Given the description of an element on the screen output the (x, y) to click on. 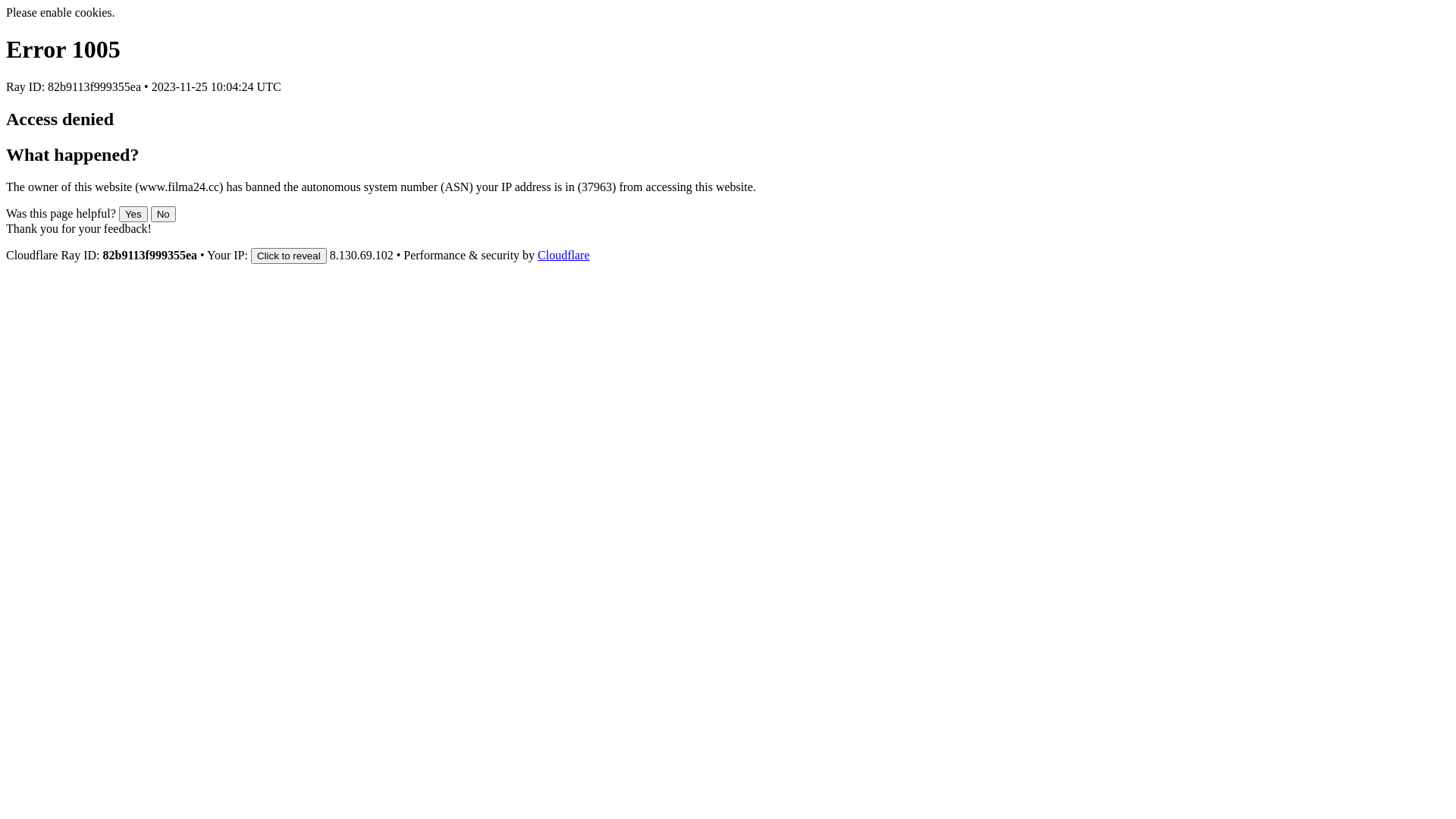
Cloudflare Element type: text (563, 254)
Click to reveal Element type: text (288, 255)
Yes Element type: text (133, 214)
No Element type: text (162, 214)
